Given the description of an element on the screen output the (x, y) to click on. 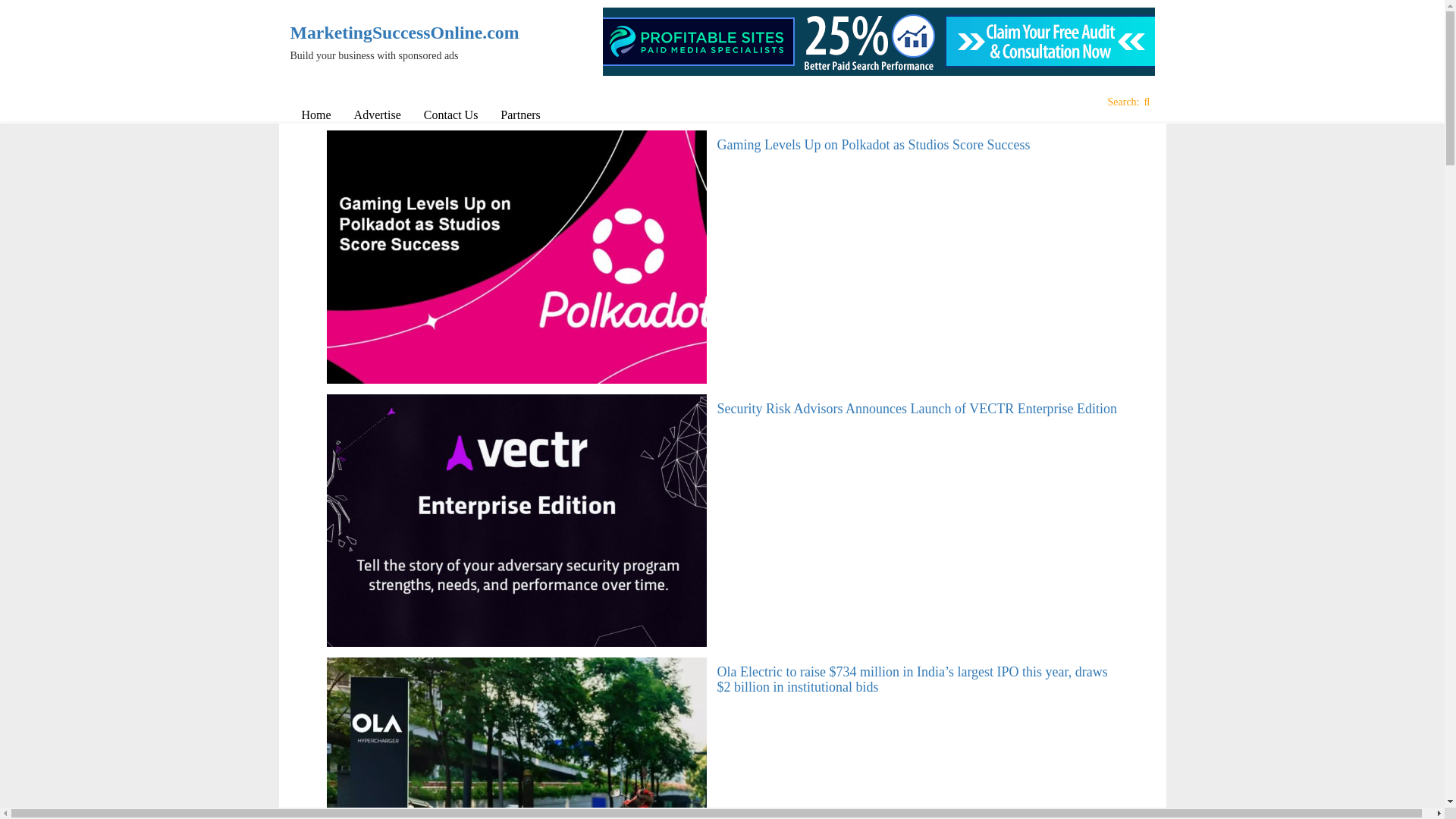
Gaming Levels Up on Polkadot as Studios Score Success (873, 144)
Home (315, 115)
Partners (520, 115)
Contact Us (450, 115)
Gaming Levels Up on Polkadot as Studios Score Success (873, 144)
MarketingSuccessOnline.com (389, 32)
Advertise (377, 115)
